Given the description of an element on the screen output the (x, y) to click on. 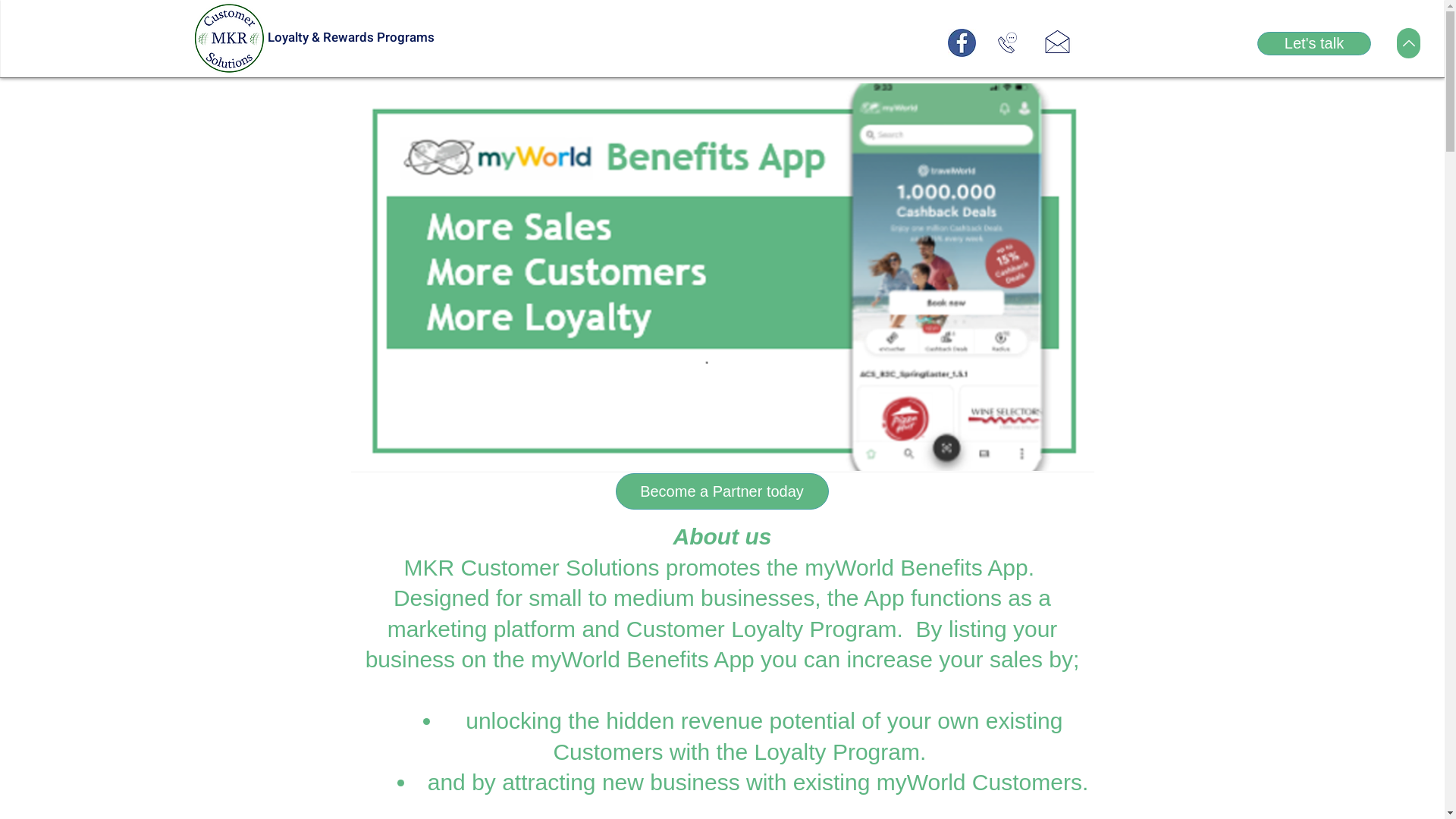
About Element type: text (719, 49)
Let's talk Element type: text (1314, 43)
Become a Partner today Element type: text (721, 491)
